Given the description of an element on the screen output the (x, y) to click on. 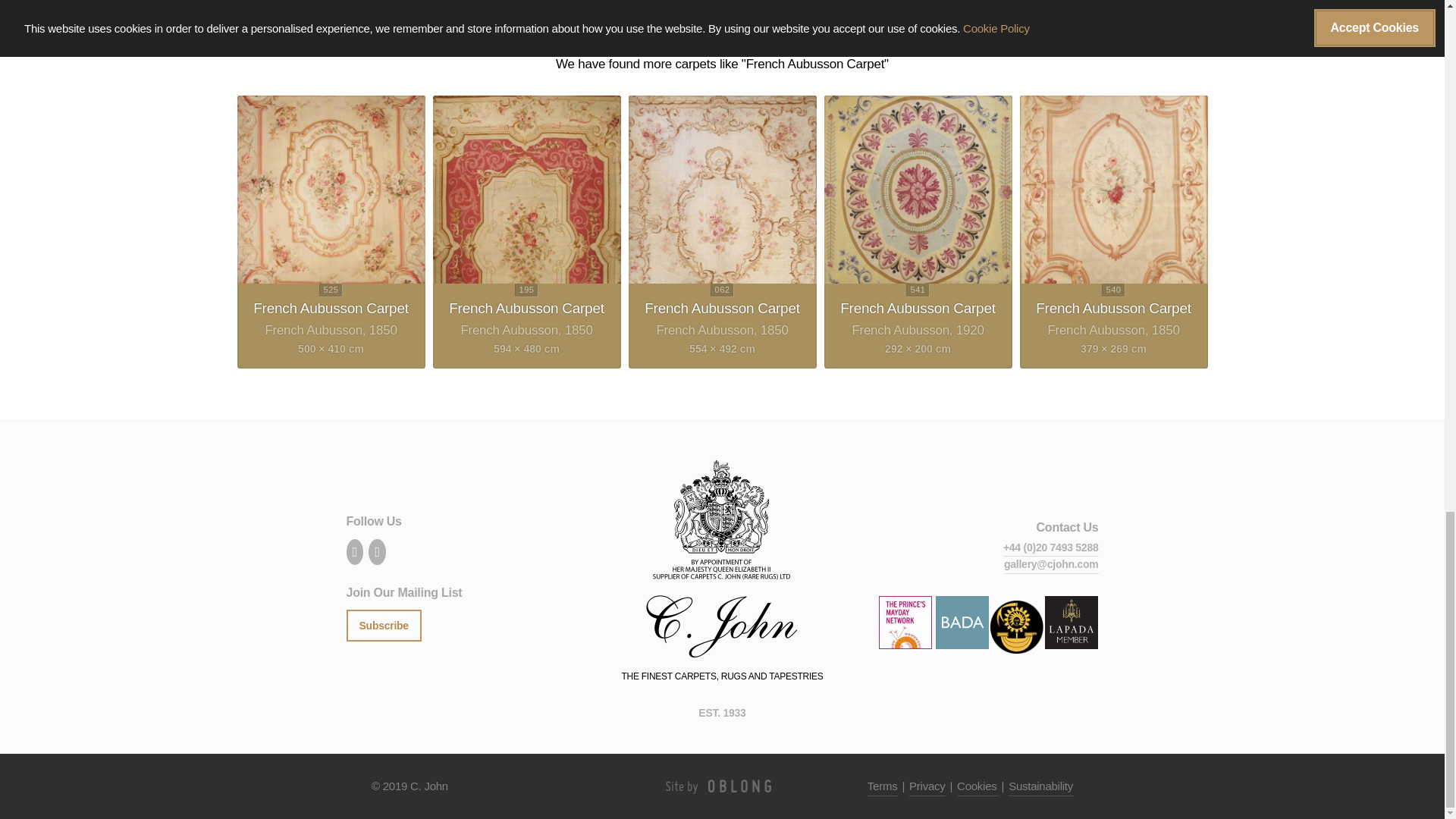
CINOA (1016, 644)
Subscribe (383, 625)
